Given the description of an element on the screen output the (x, y) to click on. 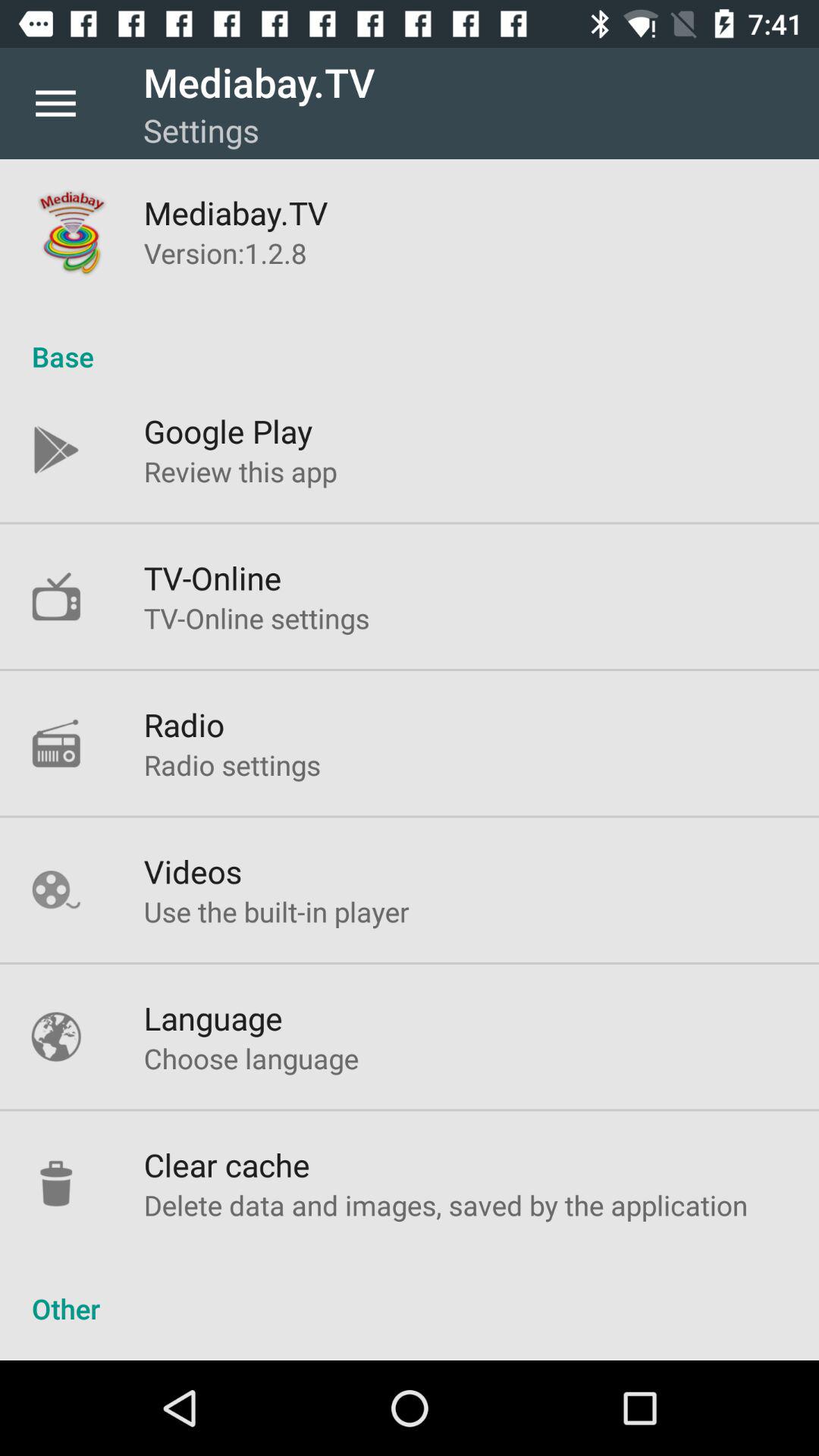
launch the item below videos icon (276, 911)
